Given the description of an element on the screen output the (x, y) to click on. 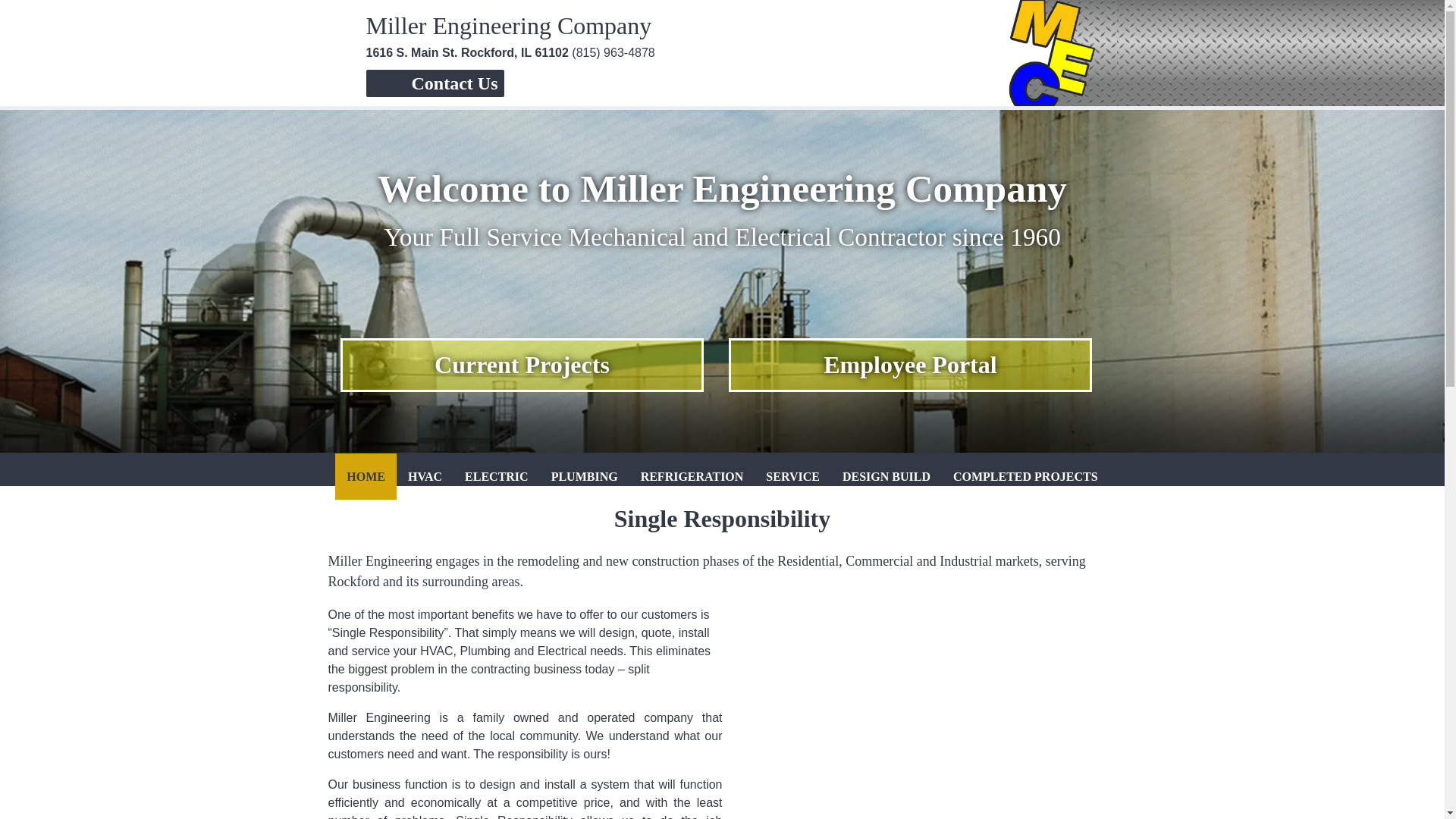
HOME (365, 476)
Current Projects (521, 365)
Employee Portal (910, 365)
REFRIGERATION (691, 476)
ELECTRIC (496, 476)
DESIGN BUILD (886, 476)
Contact Us (453, 83)
SERVICE (792, 476)
PLUMBING (584, 476)
HVAC (424, 476)
